Given the description of an element on the screen output the (x, y) to click on. 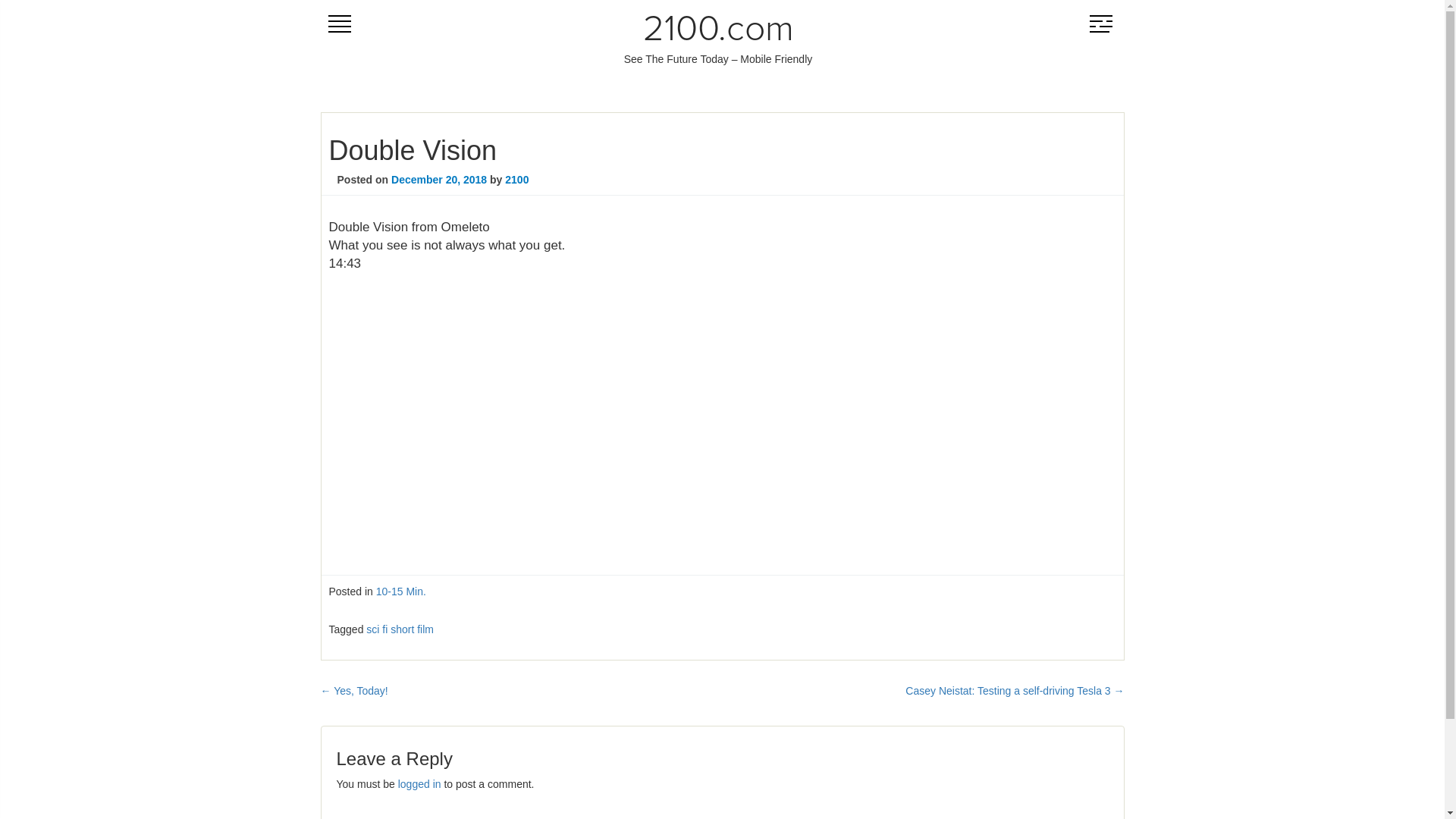
10-15 Min. Element type: text (401, 591)
2100.com Element type: text (718, 29)
Skip to content Element type: text (320, 21)
December 20, 2018 Element type: text (438, 179)
logged in Element type: text (419, 784)
2100 Element type: text (516, 179)
sci fi short film Element type: text (399, 629)
